Given the description of an element on the screen output the (x, y) to click on. 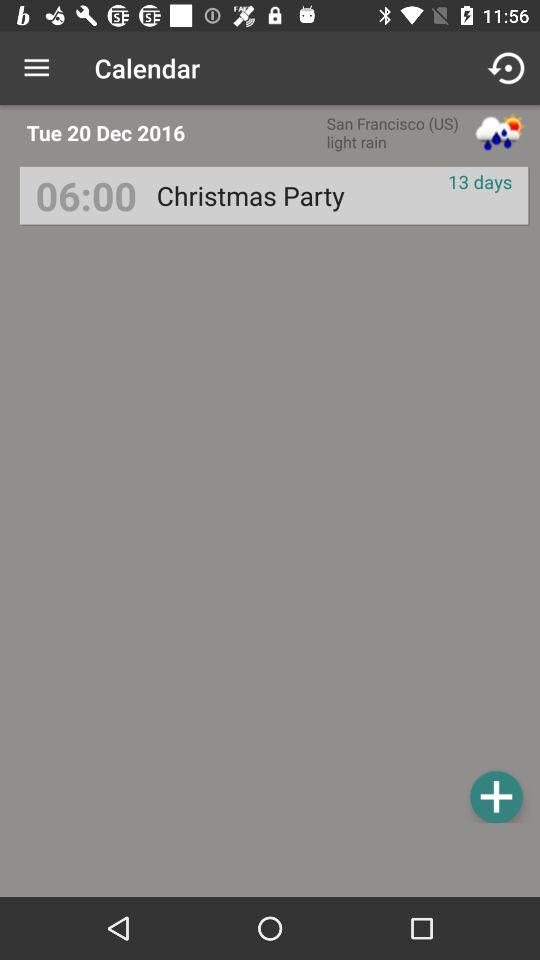
click item to the right of the christmas party (480, 181)
